Given the description of an element on the screen output the (x, y) to click on. 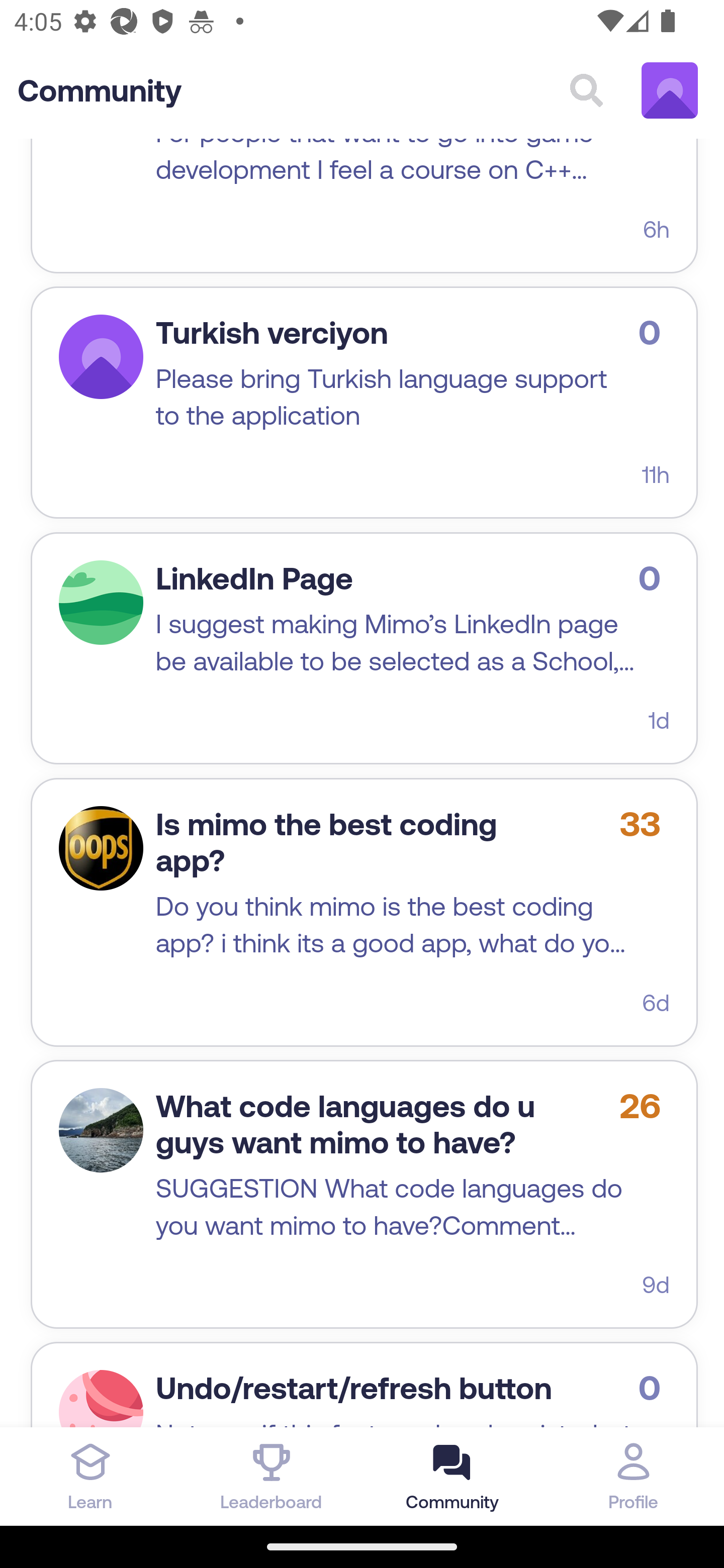
Search (586, 91)
Test Appium's account (669, 91)
Community (100, 91)
6h (656, 230)
1 (100, 358)
Turkish verciyon (271, 333)
This topic has 0 replies (653, 333)
11h (655, 474)
1 (100, 603)
This topic has 0 replies (653, 577)
LinkedIn Page (253, 579)
1d (658, 721)
1 (100, 848)
Is mimo the best coding app? (326, 843)
6d (655, 1001)
1 (100, 1129)
What code languages do u guys want mimo to have? (345, 1124)
9d (655, 1285)
1 (100, 1399)
Undo/restart/refresh button (353, 1388)
This topic has 0 replies (653, 1388)
Learn (90, 1475)
Leaderboard (271, 1475)
Profile (633, 1475)
